Given the description of an element on the screen output the (x, y) to click on. 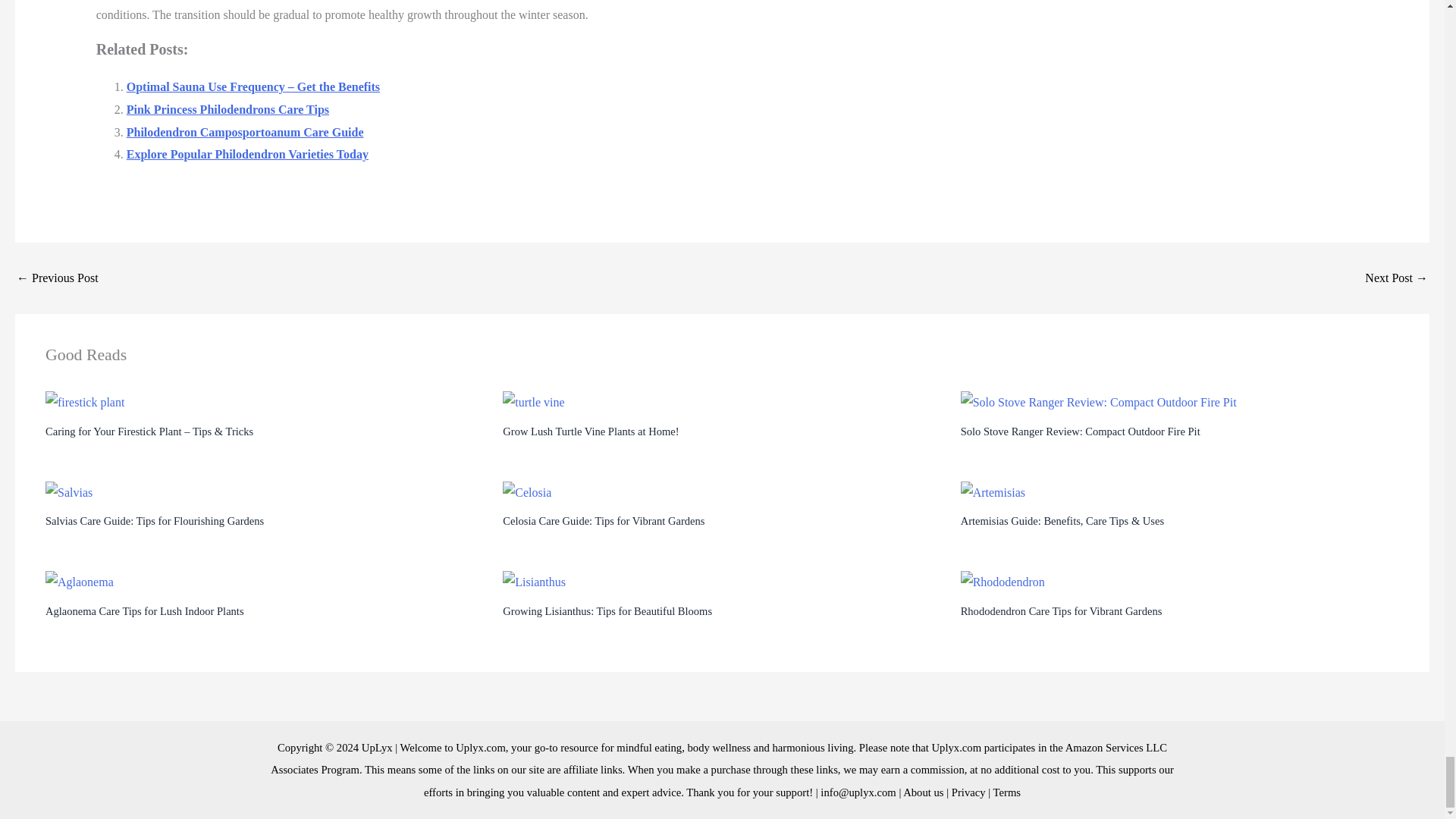
Aglaonema Care Tips for Lush Indoor Plants (144, 611)
Philodendron Camposportoanum Care Guide (245, 132)
Peace Lily Care Guide - Easy Indoor Plant Tips (1396, 277)
Philodendron Camposportoanum Care Guide (245, 132)
Pink Princess Philodendrons Care Tips (227, 109)
Pink Princess Philodendrons Care Tips (227, 109)
About us (922, 792)
Grow Lush Turtle Vine Plants at Home! (590, 431)
Explore Popular Philodendron Varieties Today (247, 154)
Grow Your Wealth: Chinese Money Plant Care Tips (57, 277)
Growing Lisianthus: Tips for Beautiful Blooms (606, 611)
Salvias Care Guide: Tips for Flourishing Gardens (154, 521)
Privacy (968, 792)
Explore Popular Philodendron Varieties Today (247, 154)
Solo Stove Ranger Review: Compact Outdoor Fire Pit (1079, 431)
